Given the description of an element on the screen output the (x, y) to click on. 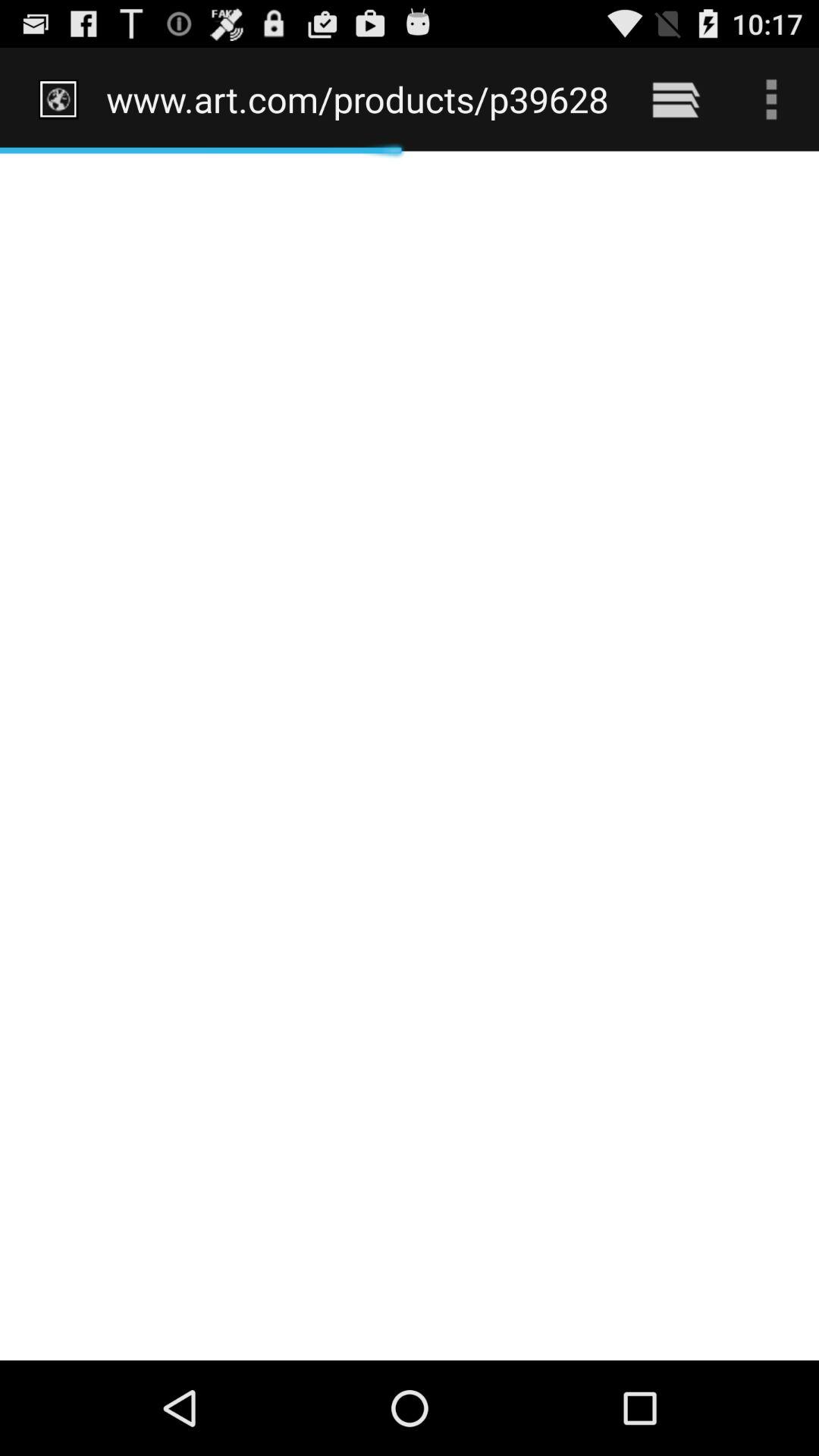
turn off icon below the www art com (409, 755)
